Given the description of an element on the screen output the (x, y) to click on. 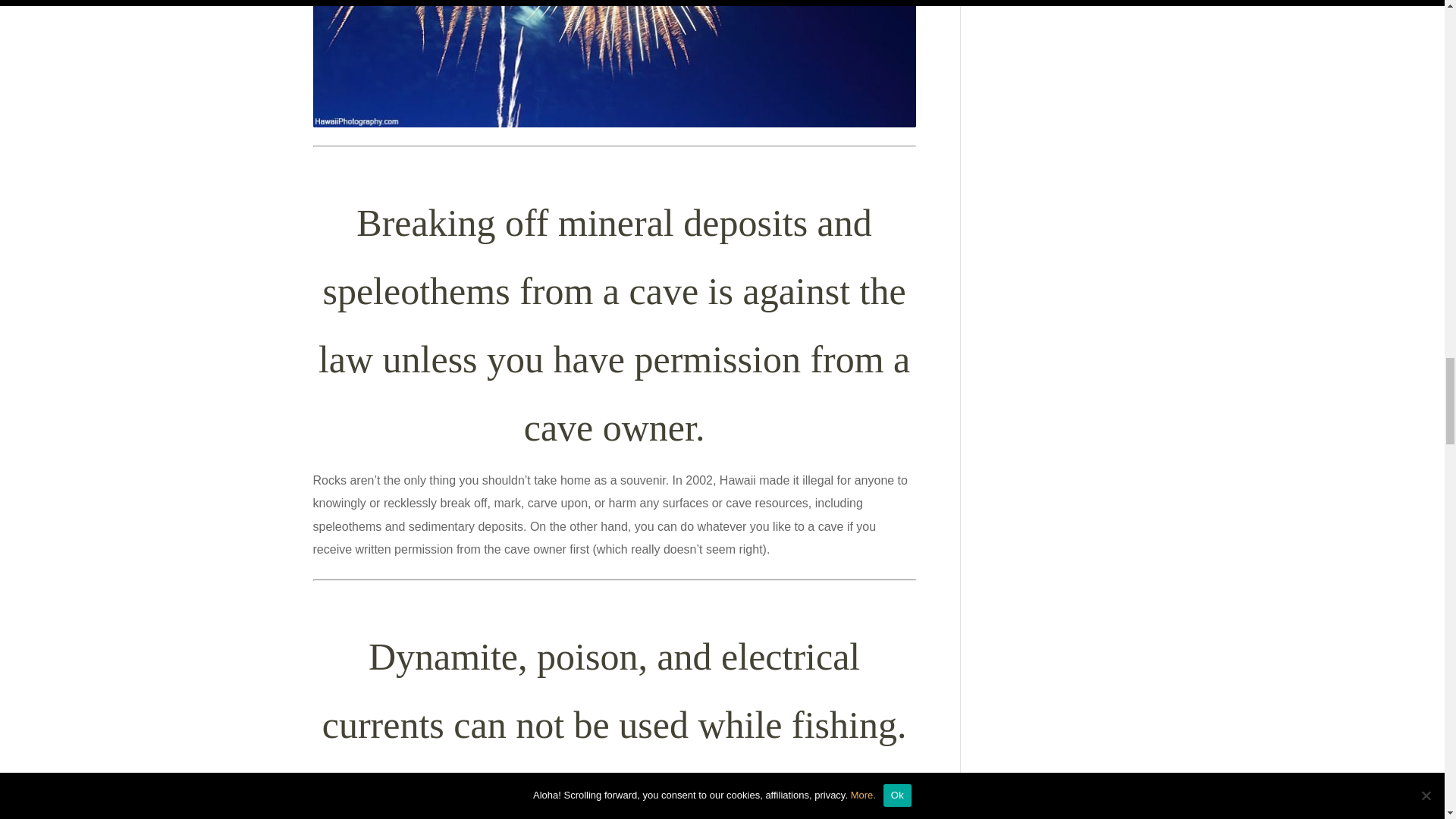
Weirdest Laws In Hawaii - No Fireworks Without Permit (614, 63)
